Given the description of an element on the screen output the (x, y) to click on. 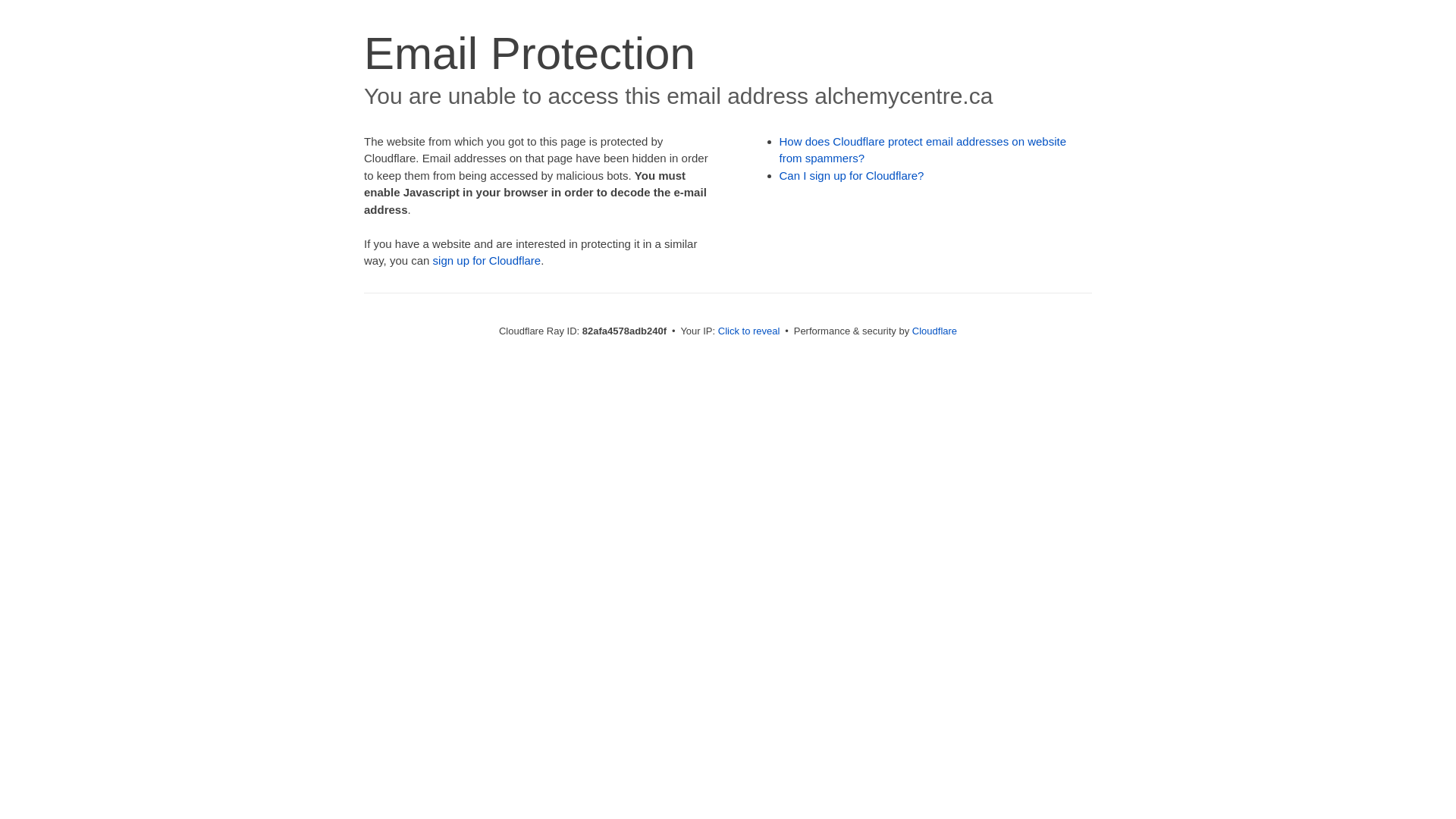
Cloudflare Element type: text (934, 330)
Can I sign up for Cloudflare? Element type: text (851, 175)
sign up for Cloudflare Element type: text (487, 260)
Click to reveal Element type: text (749, 330)
